Given the description of an element on the screen output the (x, y) to click on. 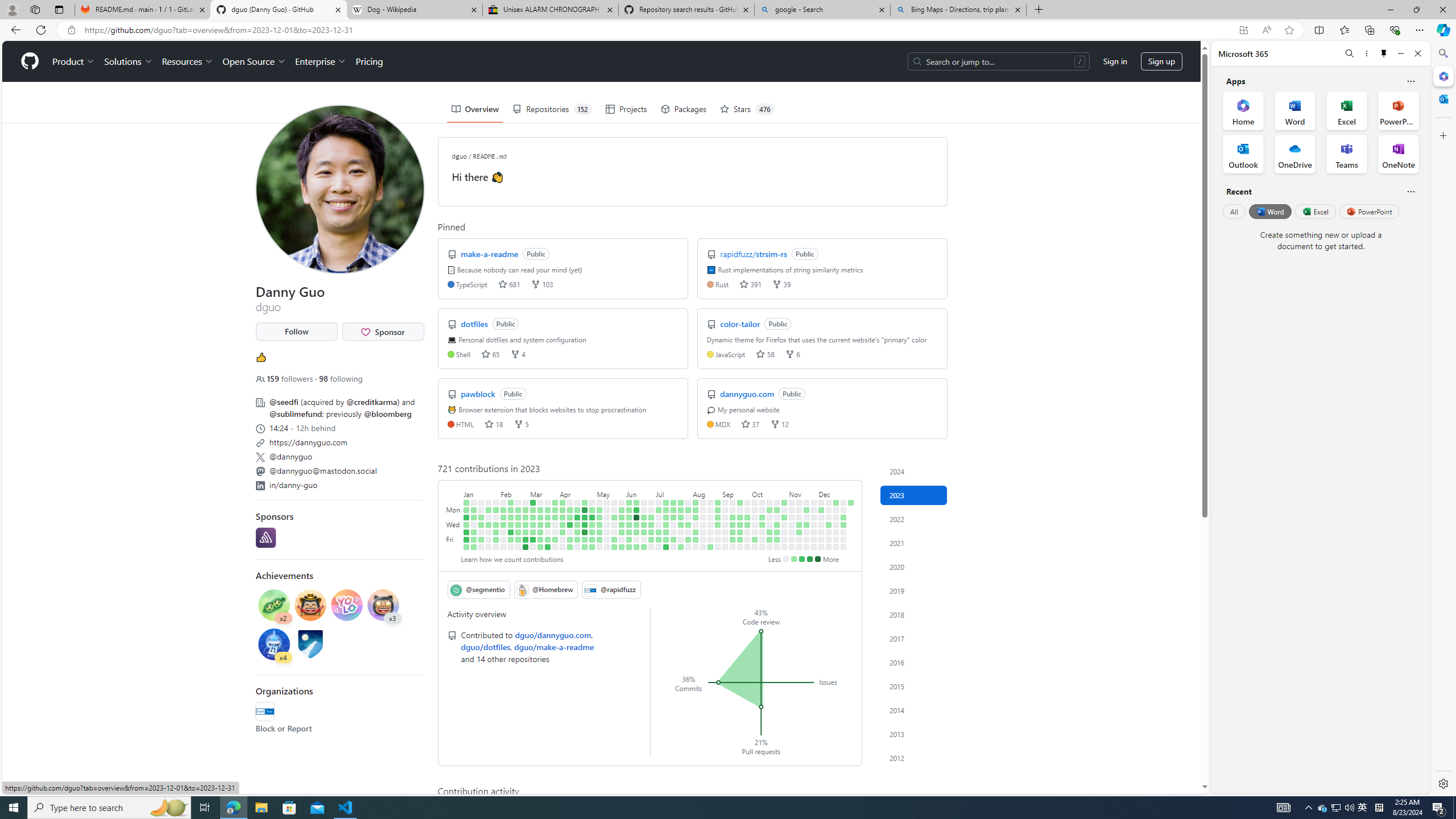
1 contribution on January 25th. (489, 524)
1 contribution on August 2nd. (688, 524)
rapidfuzz (263, 711)
1 contribution on March 24th. (547, 539)
No contributions on September 3rd. (725, 502)
Resources (187, 60)
25 contributions on April 24th. (585, 509)
No contributions on April 8th. (562, 546)
No contributions on December 22nd. (836, 539)
1 contribution on July 10th. (665, 509)
1 contribution on July 21st. (674, 539)
1 contribution on March 9th. (532, 531)
No contributions on December 20th. (836, 524)
1 contribution on March 8th. (532, 524)
